Given the description of an element on the screen output the (x, y) to click on. 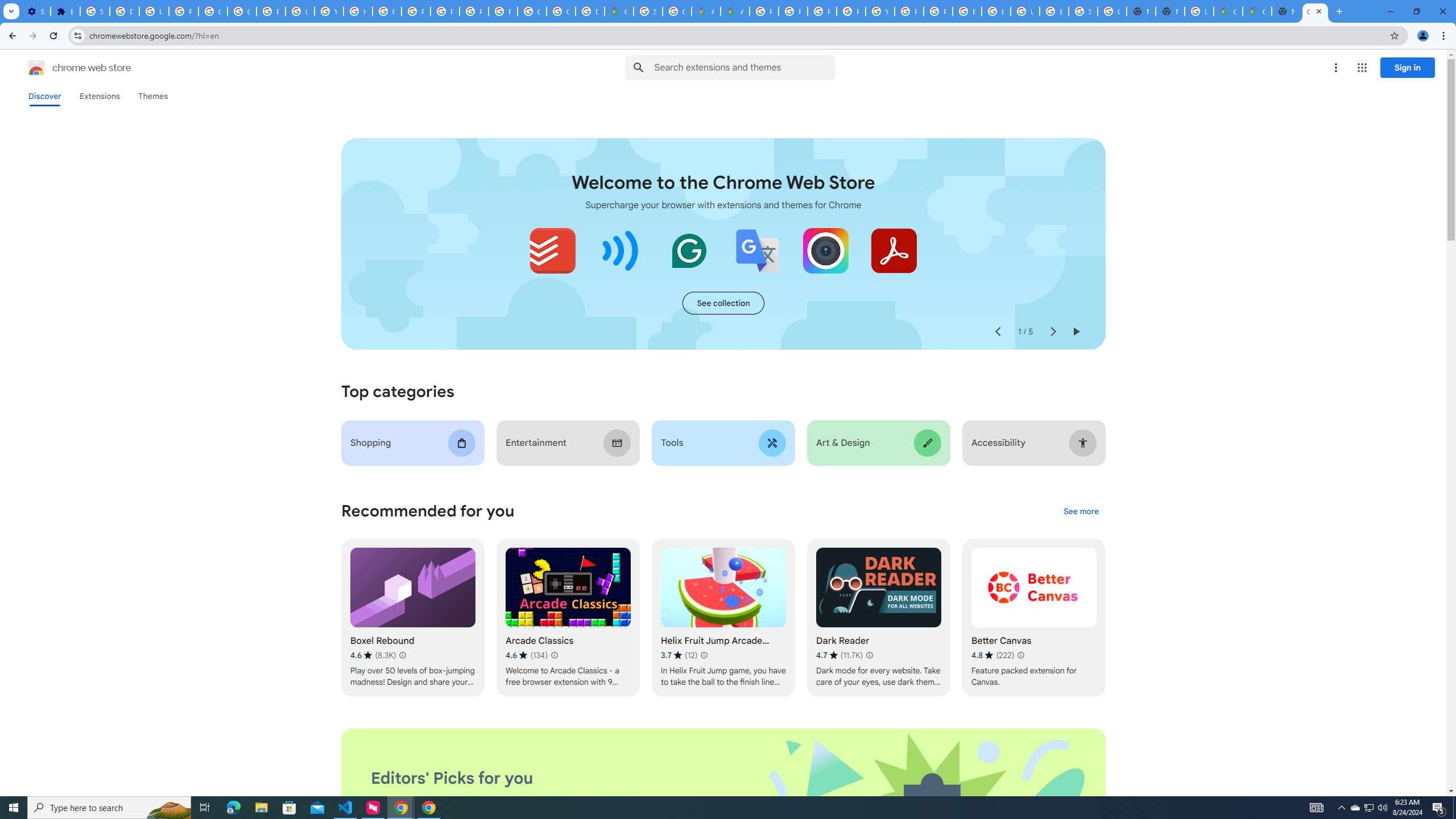
Discover (43, 95)
Chrome Web Store logo (36, 67)
Privacy Help Center - Policies Help (821, 11)
Average rating 4.6 out of 5 stars. 8.3K ratings. (372, 655)
Dark Reader (878, 617)
Volume Master (620, 250)
Google Maps (1227, 11)
Average rating 4.6 out of 5 stars. 134 ratings. (526, 655)
Better Canvas (1033, 617)
More options menu (1335, 67)
Next slide (1052, 331)
